Given the description of an element on the screen output the (x, y) to click on. 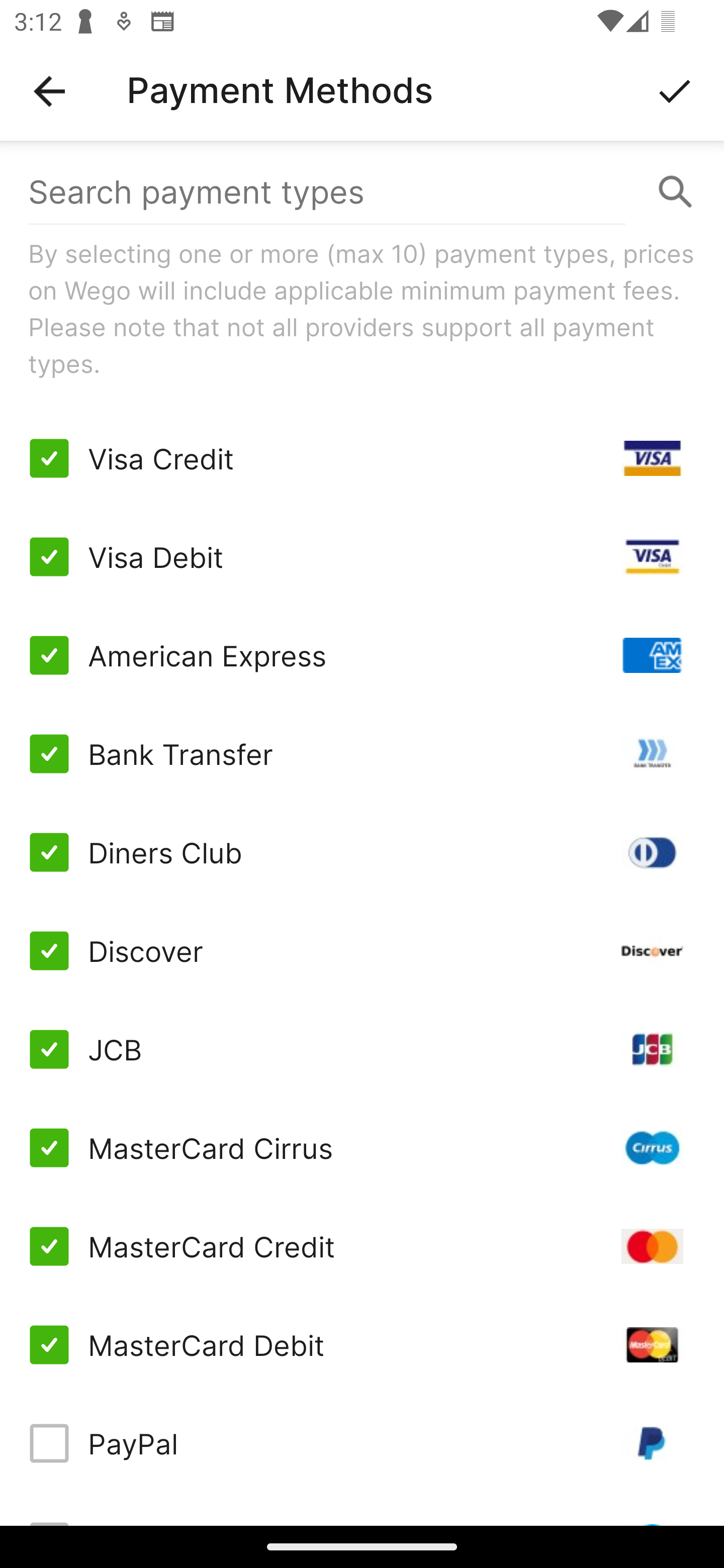
Search payment types  (361, 191)
Visa Credit (362, 458)
Visa Debit (362, 557)
American Express (362, 655)
Bank Transfer (362, 753)
Diners Club (362, 851)
Discover (362, 950)
JCB (362, 1049)
MasterCard Cirrus (362, 1147)
MasterCard Credit (362, 1245)
MasterCard Debit (362, 1344)
PayPal (362, 1442)
